Given the description of an element on the screen output the (x, y) to click on. 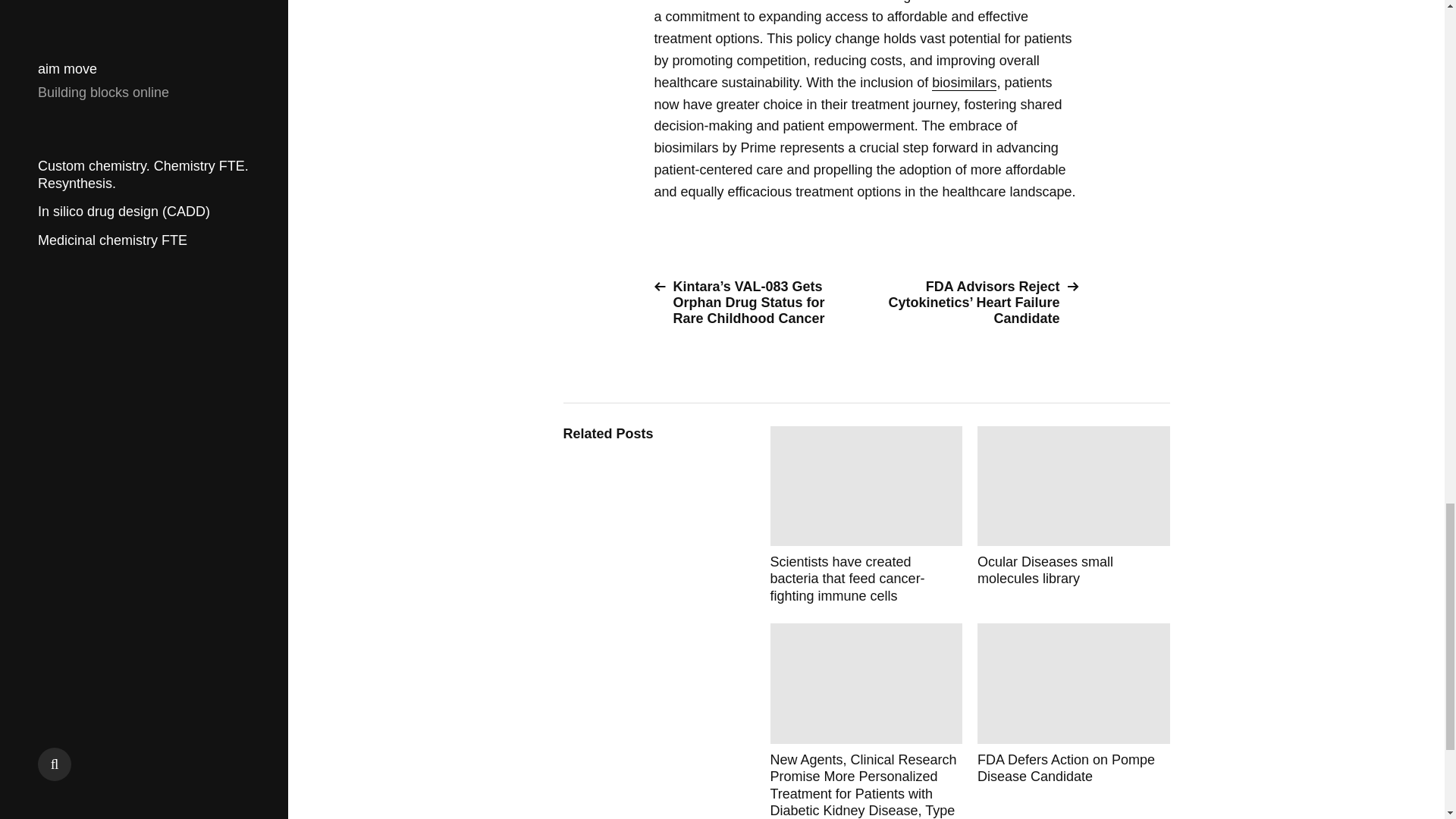
BRD4 Targeted Library (1073, 712)
biosimilars (963, 82)
Allosteric inhibitors (1073, 515)
